Given the description of an element on the screen output the (x, y) to click on. 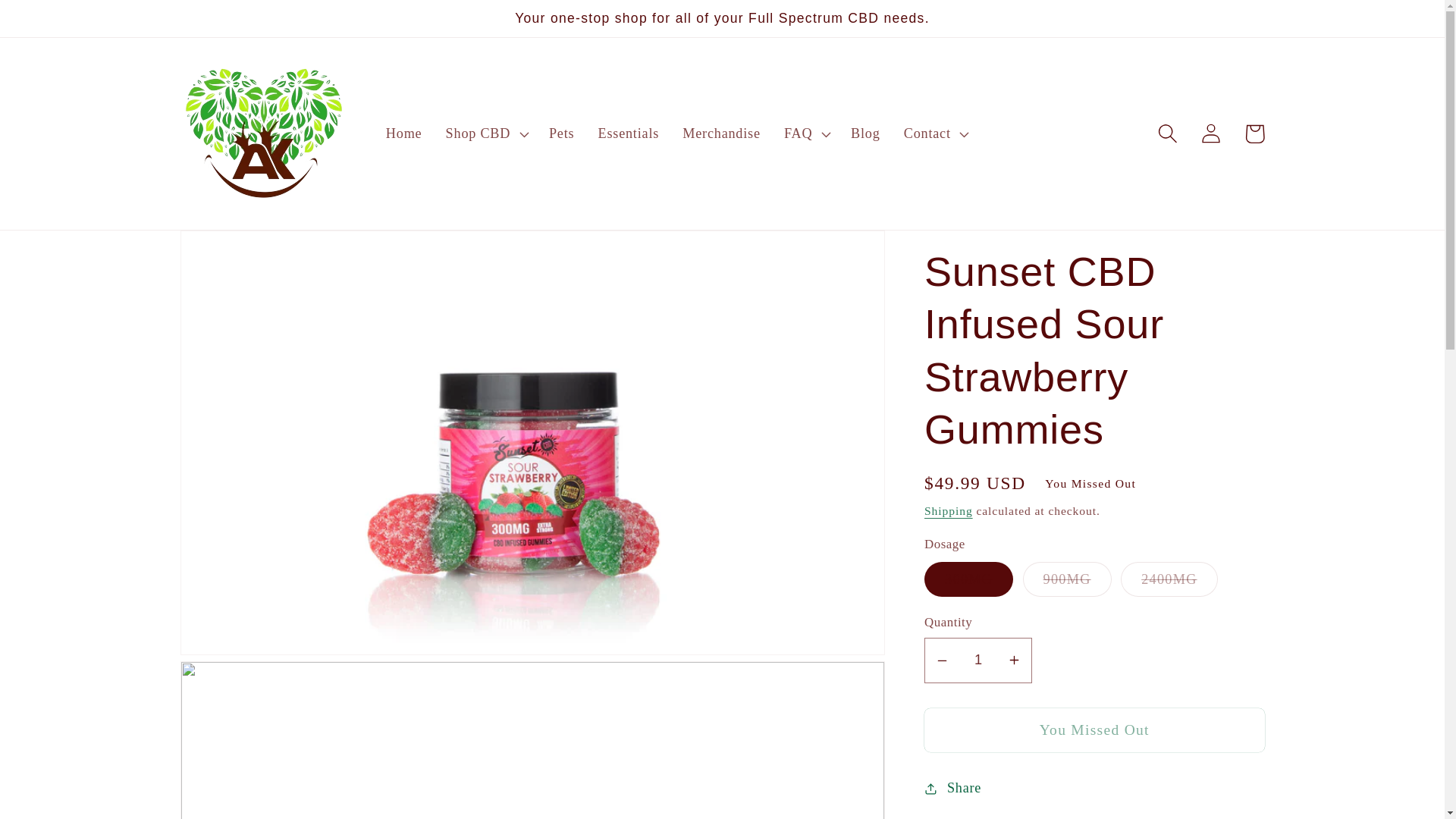
Skip to content (58, 22)
